Given the description of an element on the screen output the (x, y) to click on. 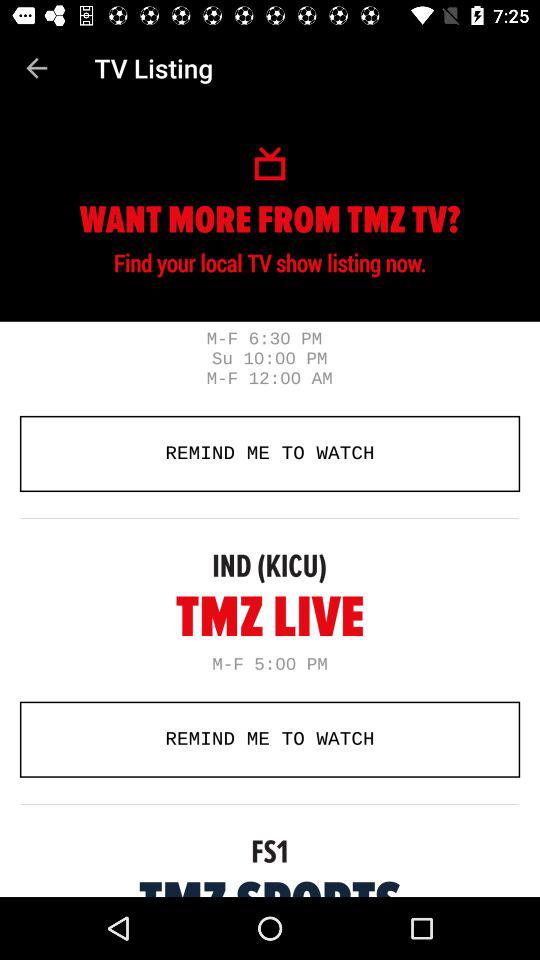
launch item above the remind me to item (36, 68)
